Given the description of an element on the screen output the (x, y) to click on. 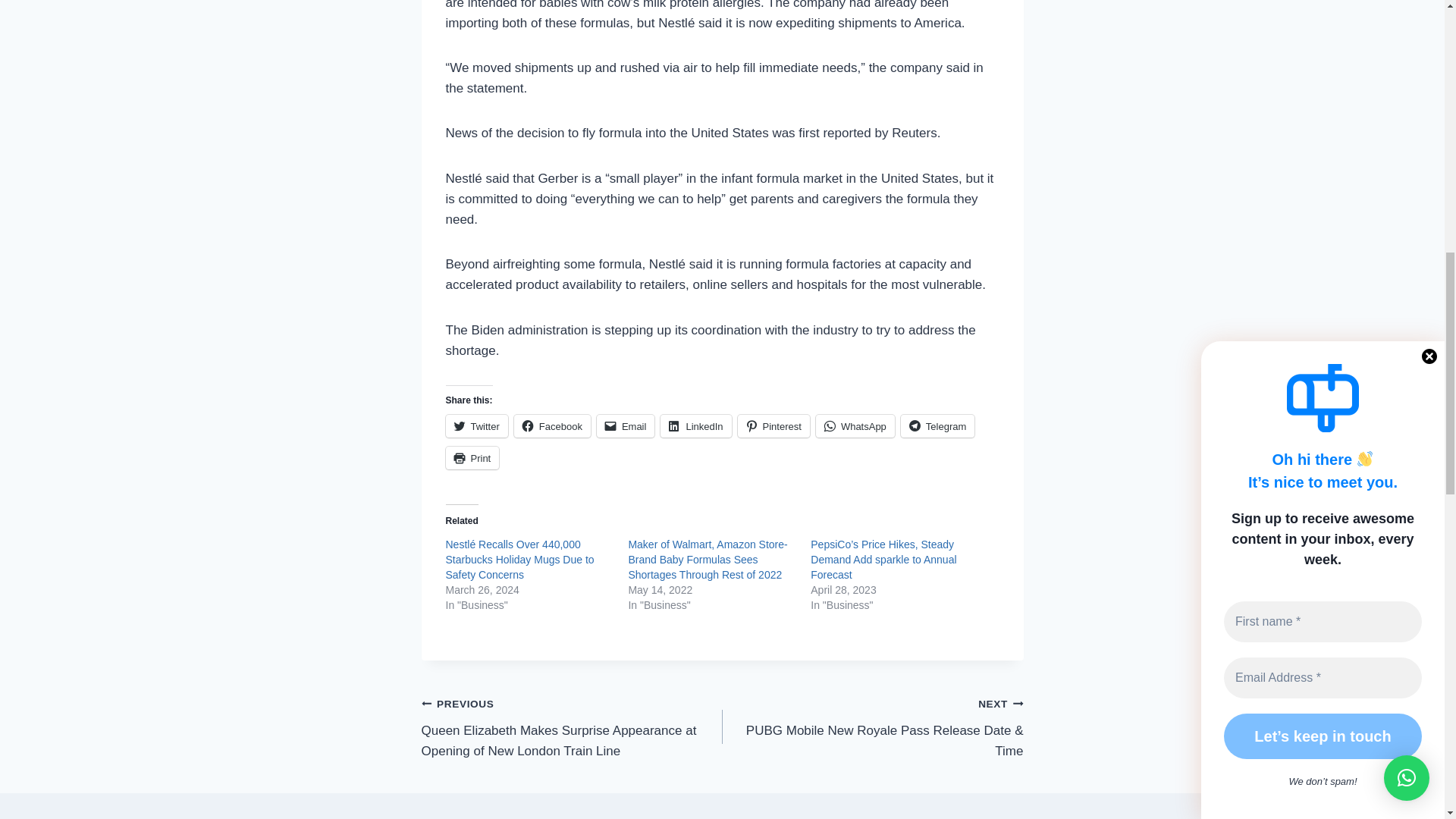
Click to share on WhatsApp (855, 425)
Facebook (552, 425)
Pinterest (773, 425)
Click to share on LinkedIn (695, 425)
Click to share on Twitter (476, 425)
Email (625, 425)
Click to share on Facebook (552, 425)
Click to share on Telegram (937, 425)
Telegram (937, 425)
LinkedIn (695, 425)
Print (472, 457)
Click to share on Pinterest (773, 425)
